Given the description of an element on the screen output the (x, y) to click on. 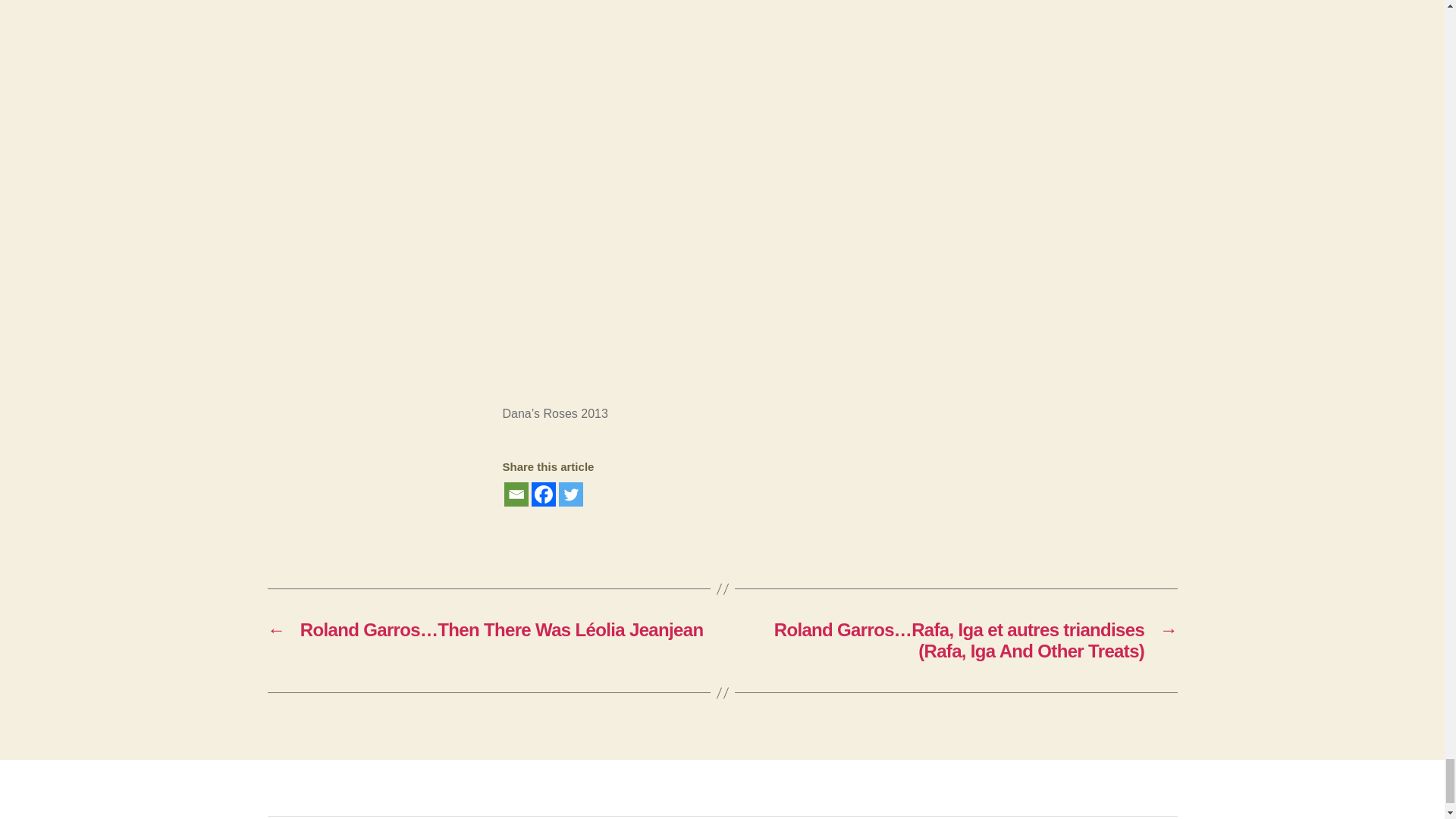
Email (515, 494)
Facebook (542, 494)
Twitter (569, 494)
